Given the description of an element on the screen output the (x, y) to click on. 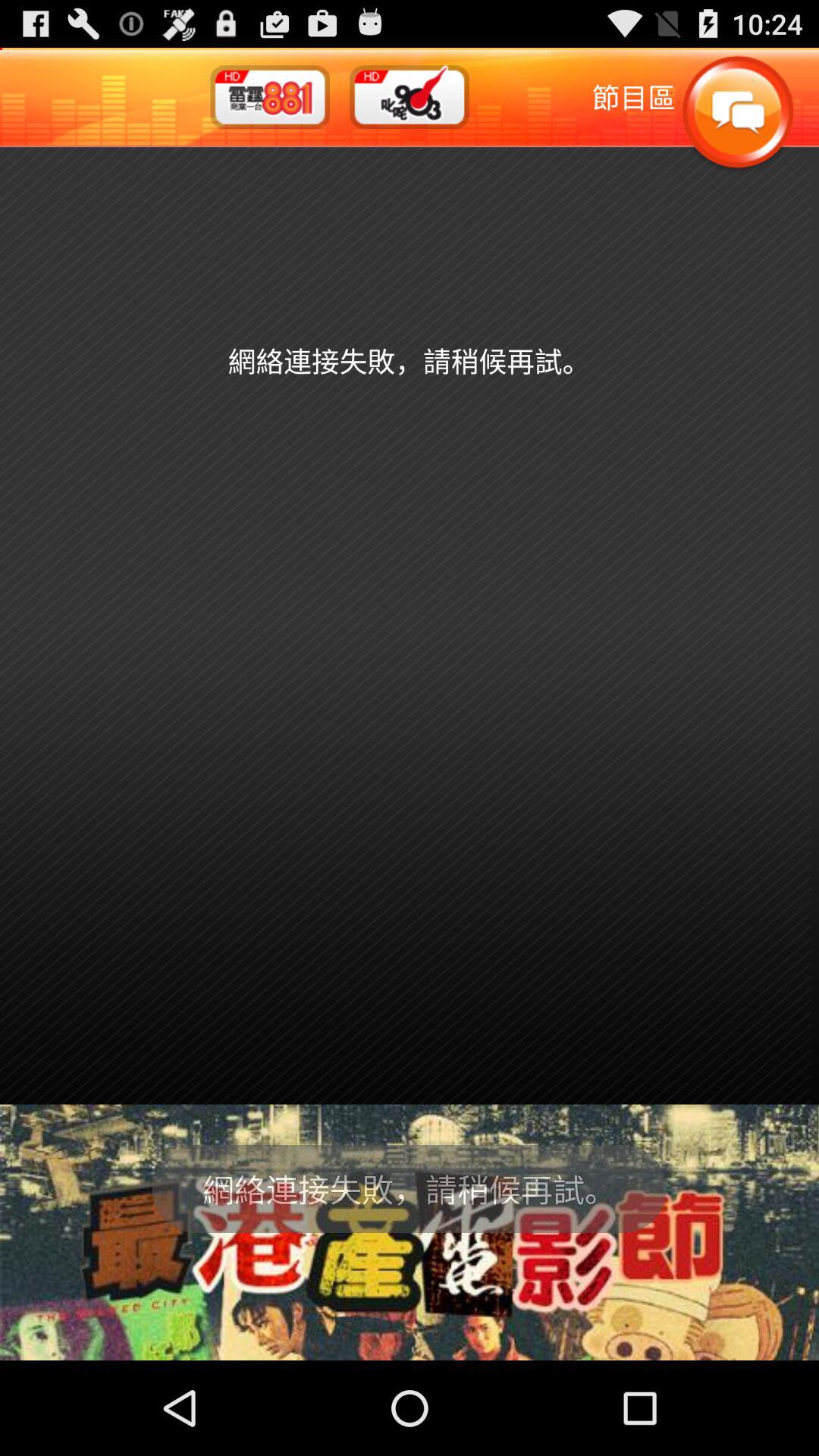
open chat (737, 113)
